Given the description of an element on the screen output the (x, y) to click on. 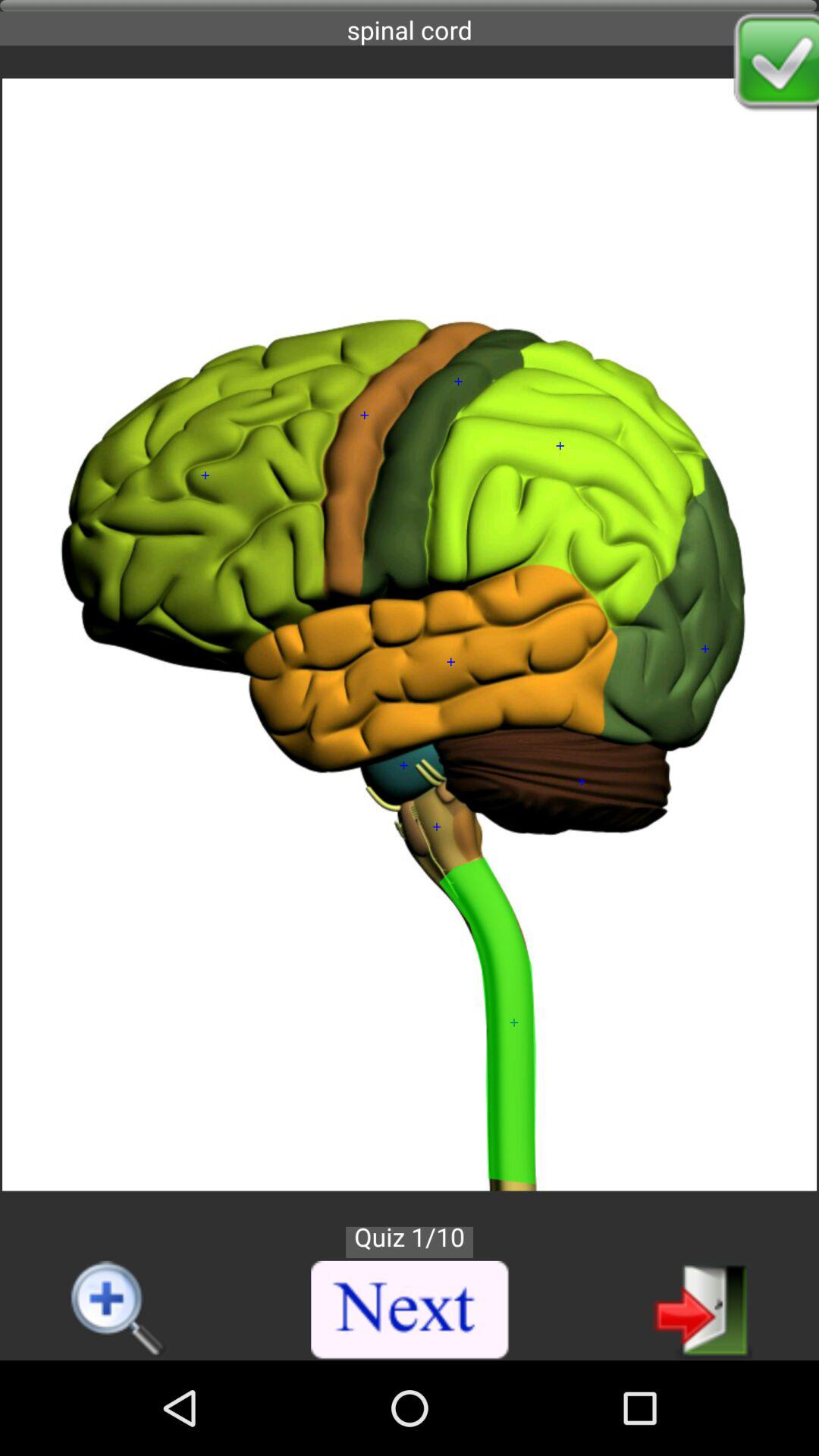
launch item at the bottom (410, 1310)
